Given the description of an element on the screen output the (x, y) to click on. 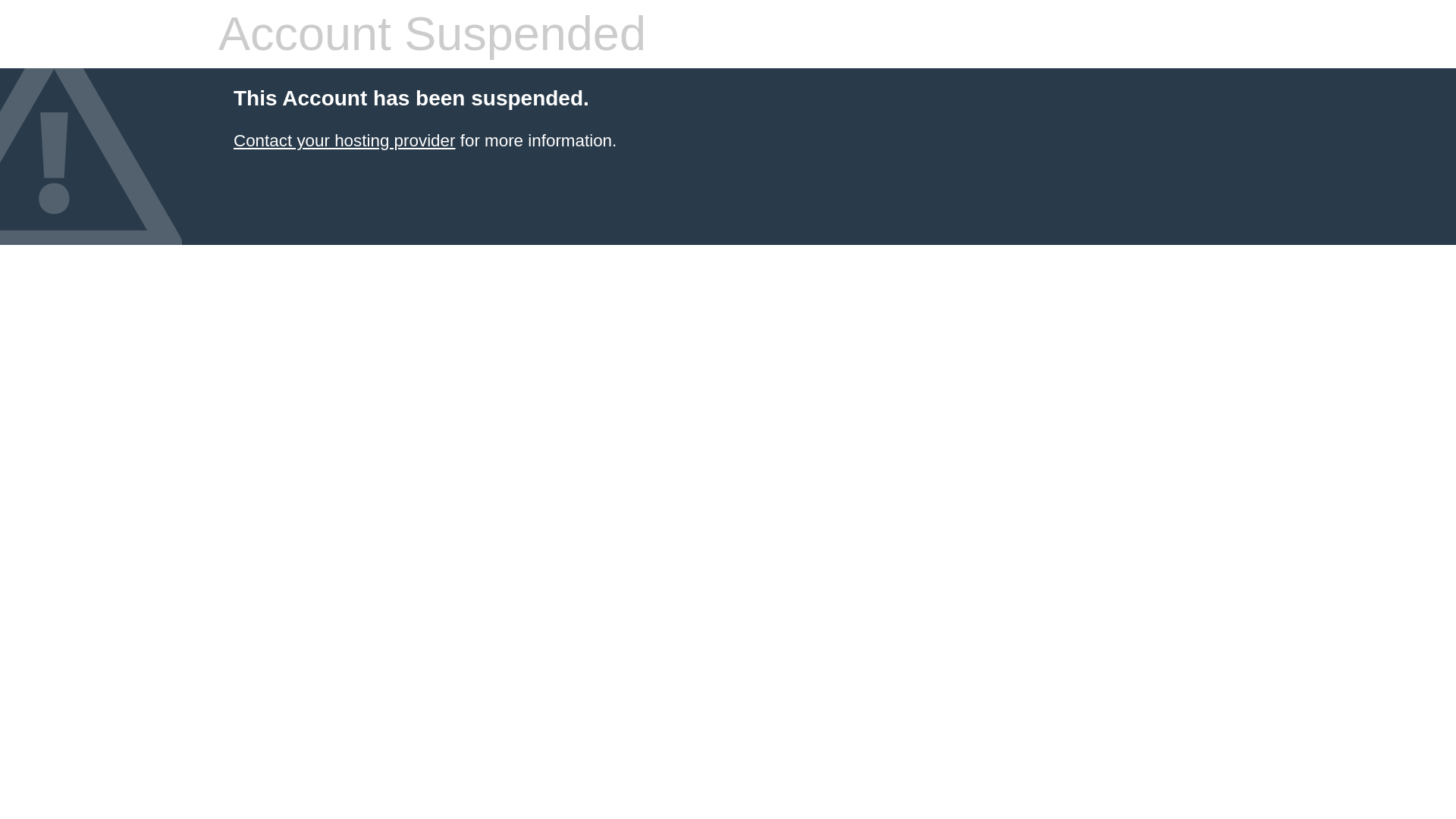
Contact your hosting provider (343, 140)
